Given the description of an element on the screen output the (x, y) to click on. 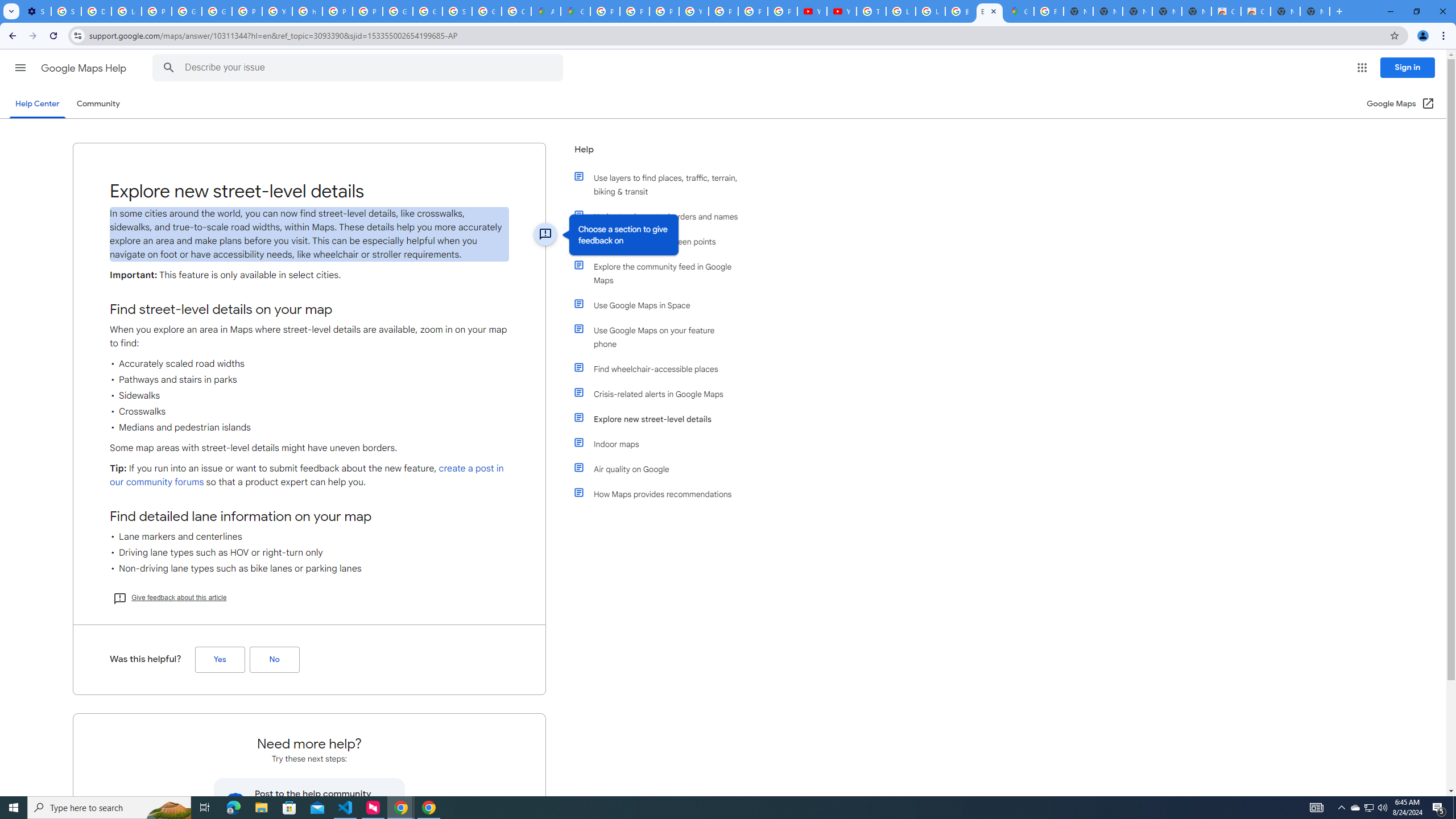
Create your Google Account (515, 11)
Non-driving lane types such as bike lanes or parking lanes (309, 568)
Explore new street-level details - Google Maps Help (989, 11)
How Maps provides recommendations (661, 493)
Search Help Center (168, 67)
Pathways and stairs in parks (309, 379)
No (Was this helpful?) (273, 660)
